Given the description of an element on the screen output the (x, y) to click on. 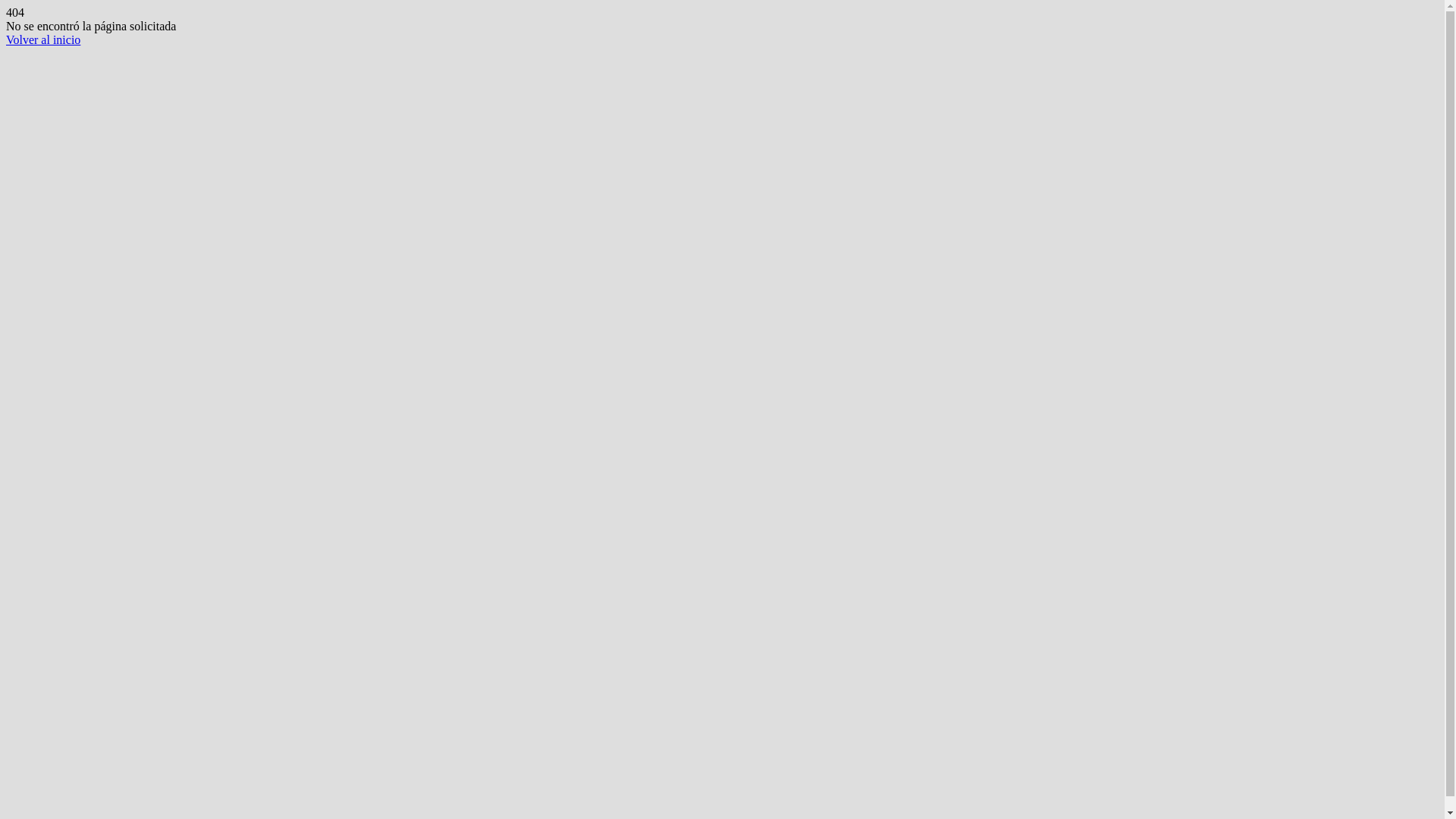
Volver al inicio Element type: text (43, 39)
